Given the description of an element on the screen output the (x, y) to click on. 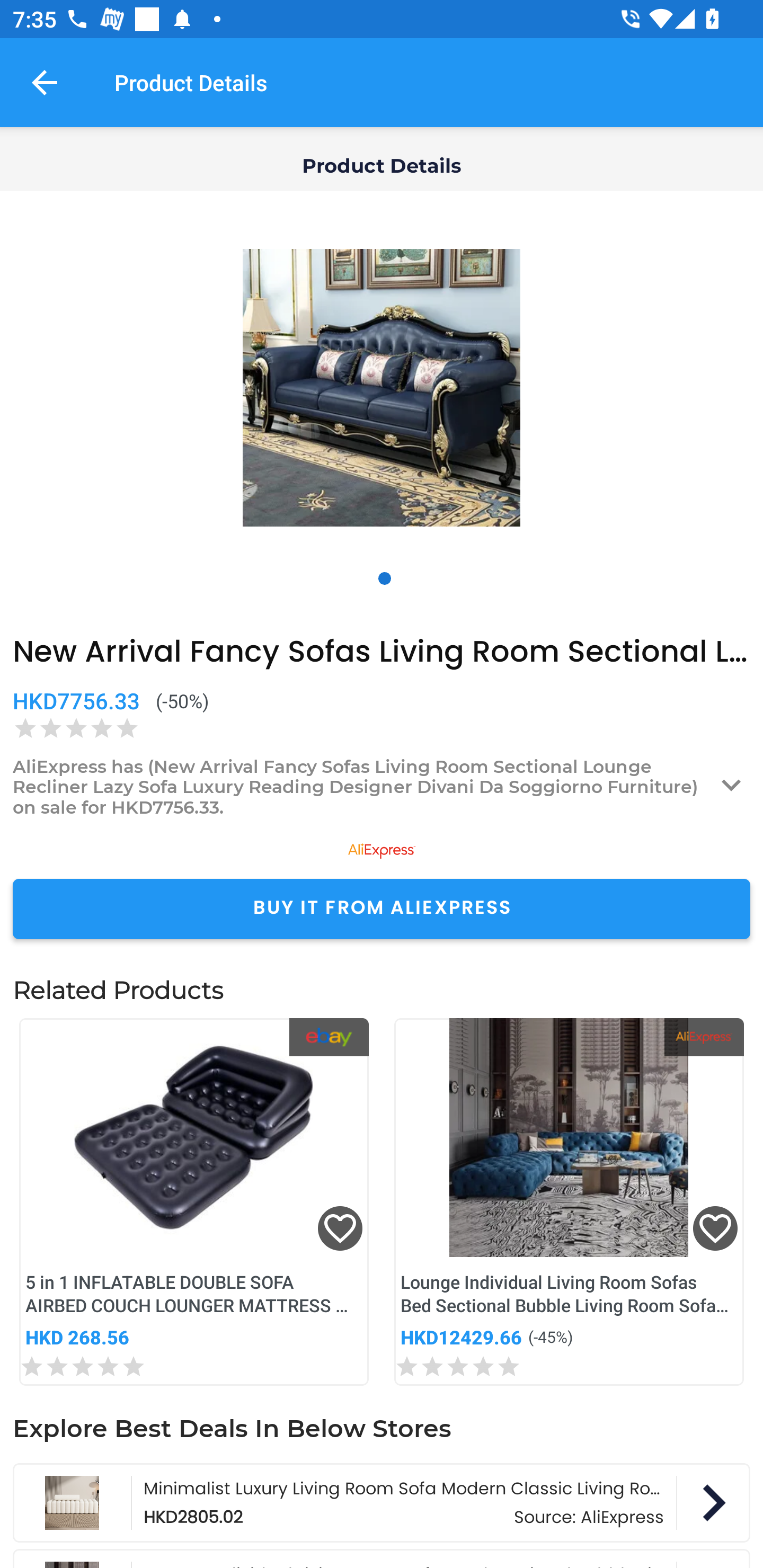
Navigate up (44, 82)
BUY IT FROM ALIEXPRESS (381, 908)
